Given the description of an element on the screen output the (x, y) to click on. 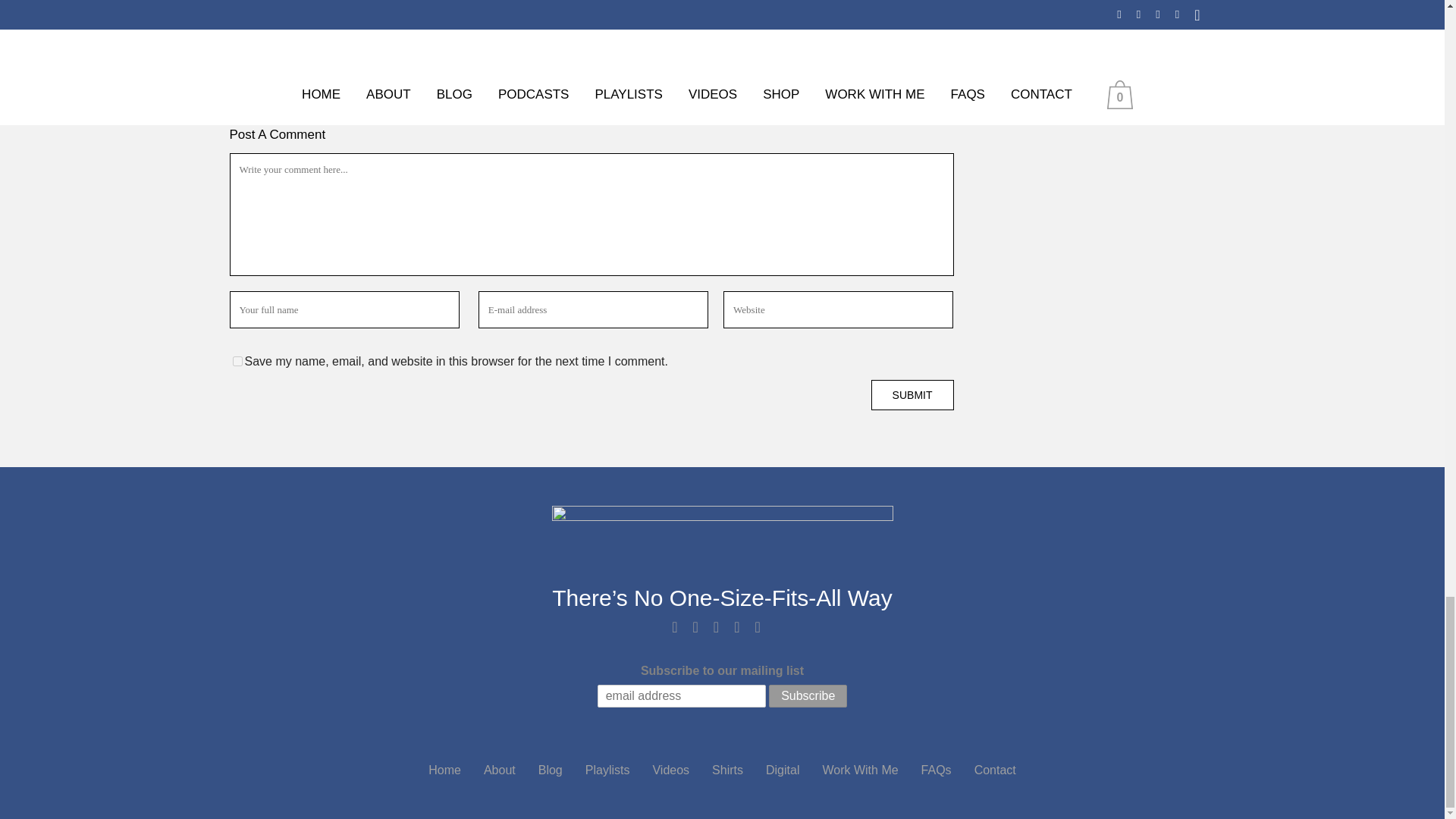
Submit (911, 395)
yes (236, 361)
Subscribe (807, 695)
